Given the description of an element on the screen output the (x, y) to click on. 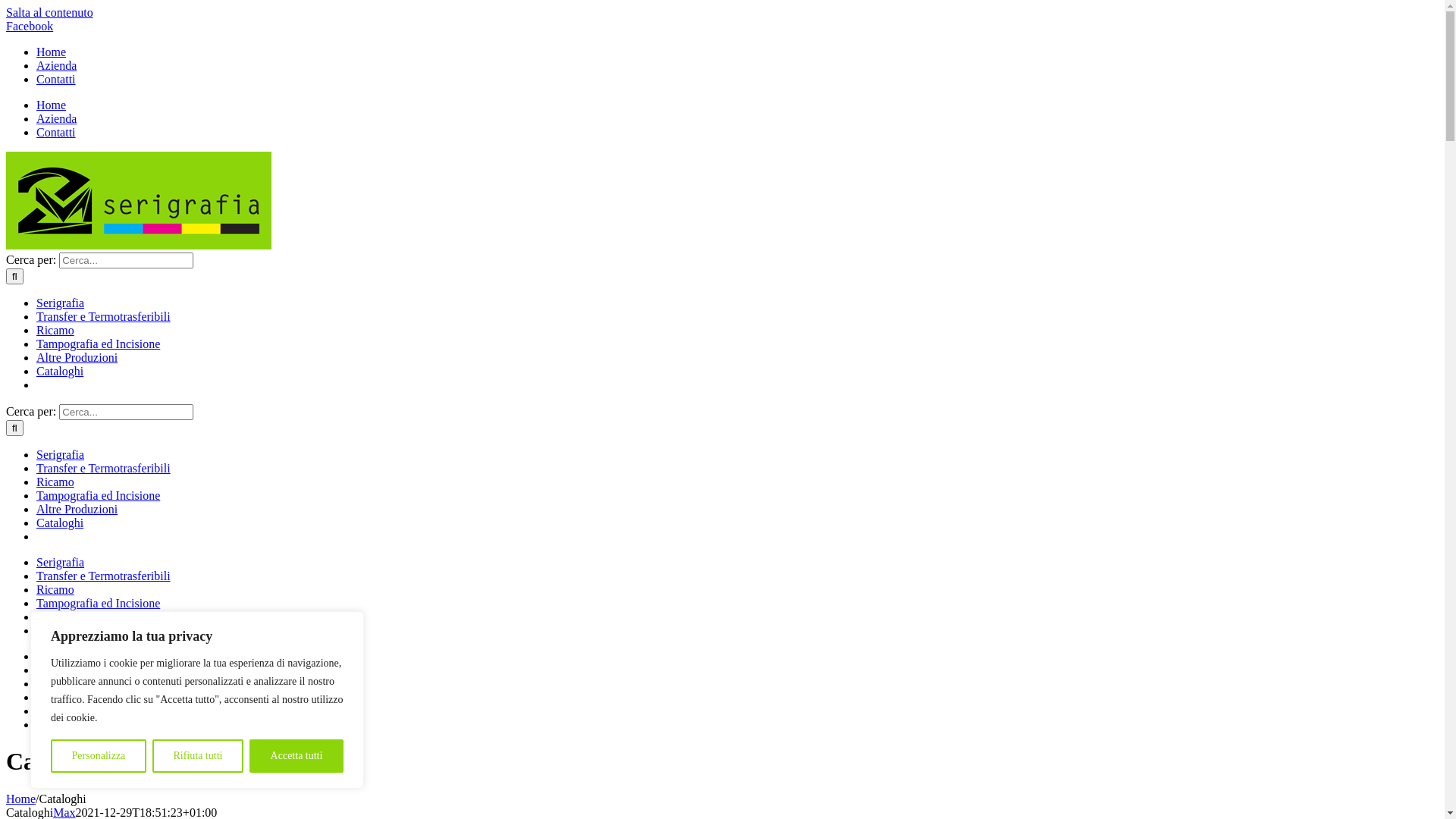
Serigrafia Element type: text (60, 454)
Facebook Element type: text (29, 25)
Home Element type: text (50, 51)
Serigrafia Element type: text (60, 655)
Altre Produzioni Element type: text (76, 616)
Accetta tutti Element type: text (296, 755)
Tampografia ed Incisione Element type: text (98, 696)
Tampografia ed Incisione Element type: text (98, 343)
Serigrafia Element type: text (60, 561)
Cataloghi Element type: text (59, 370)
Ricamo Element type: text (55, 329)
Tampografia ed Incisione Element type: text (98, 495)
Home Element type: text (20, 798)
Altre Produzioni Element type: text (76, 710)
Ricamo Element type: text (55, 683)
Ricamo Element type: text (55, 589)
Rifiuta tutti Element type: text (197, 755)
Tampografia ed Incisione Element type: text (98, 602)
Transfer e Termotrasferibili Element type: text (103, 575)
Azienda Element type: text (56, 118)
Salta al contenuto Element type: text (49, 12)
Altre Produzioni Element type: text (76, 357)
Home Element type: text (50, 104)
Cataloghi Element type: text (59, 724)
Azienda Element type: text (56, 65)
Serigrafia Element type: text (60, 302)
Contatti Element type: text (55, 131)
Transfer e Termotrasferibili Element type: text (103, 669)
Ricamo Element type: text (55, 481)
Transfer e Termotrasferibili Element type: text (103, 467)
Altre Produzioni Element type: text (76, 508)
Cataloghi Element type: text (59, 630)
Transfer e Termotrasferibili Element type: text (103, 316)
Personalizza Element type: text (98, 755)
Contatti Element type: text (55, 78)
Cataloghi Element type: text (59, 522)
